Given the description of an element on the screen output the (x, y) to click on. 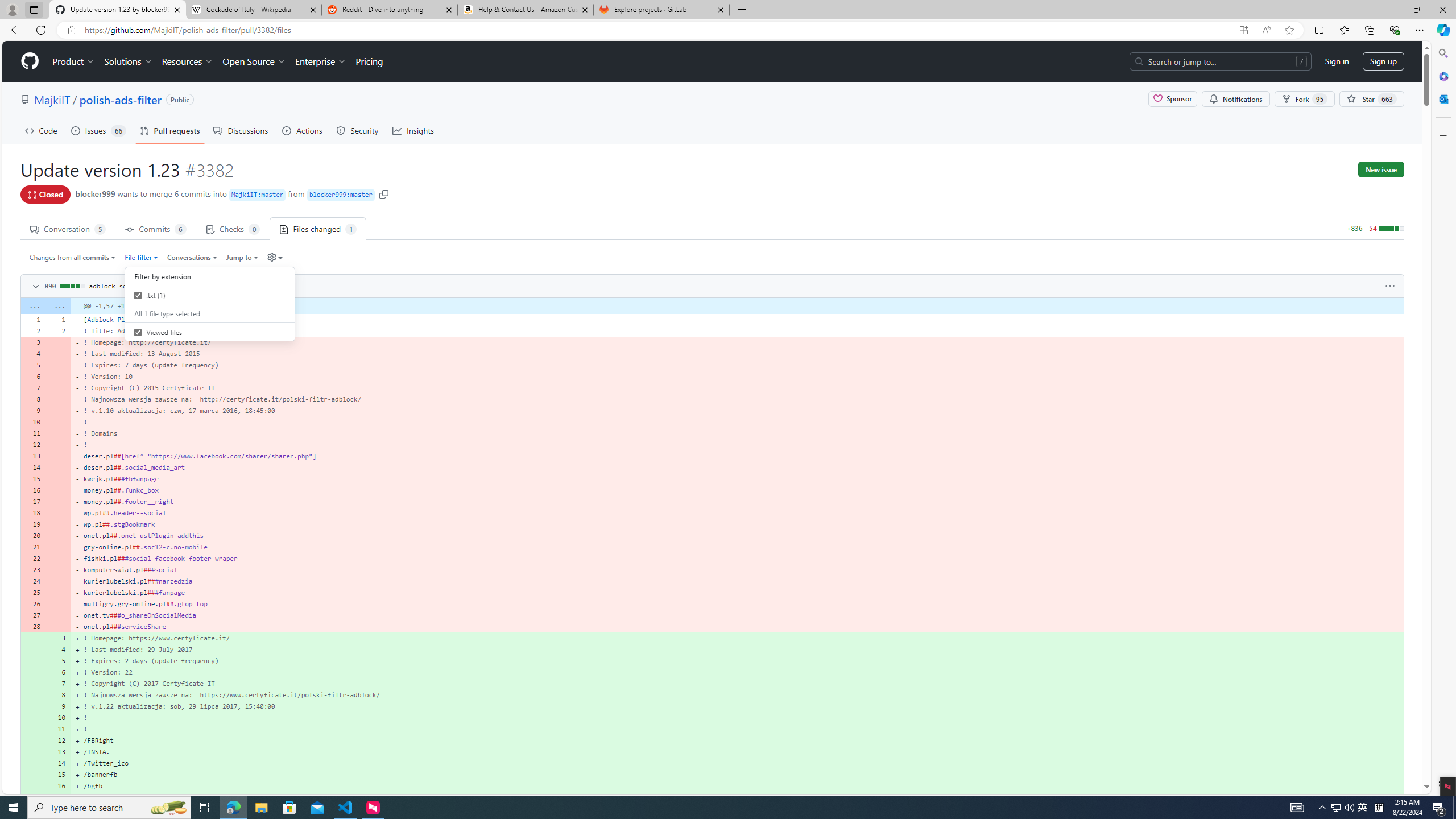
- multigry.gry-online.pl##.gtop_top (737, 603)
+ /Twitter_ico  (737, 763)
15 (58, 774)
... (58, 305)
- ! Last modified: 13 August 2015 (737, 353)
You must be signed in to change notification settings (1235, 98)
- money.pl##.funkc_box (737, 490)
Enterprise (319, 60)
10 (58, 717)
Original file line number (35, 316)
Show options (1390, 285)
+ /bgfb  (737, 785)
Sign in (1336, 61)
